Given the description of an element on the screen output the (x, y) to click on. 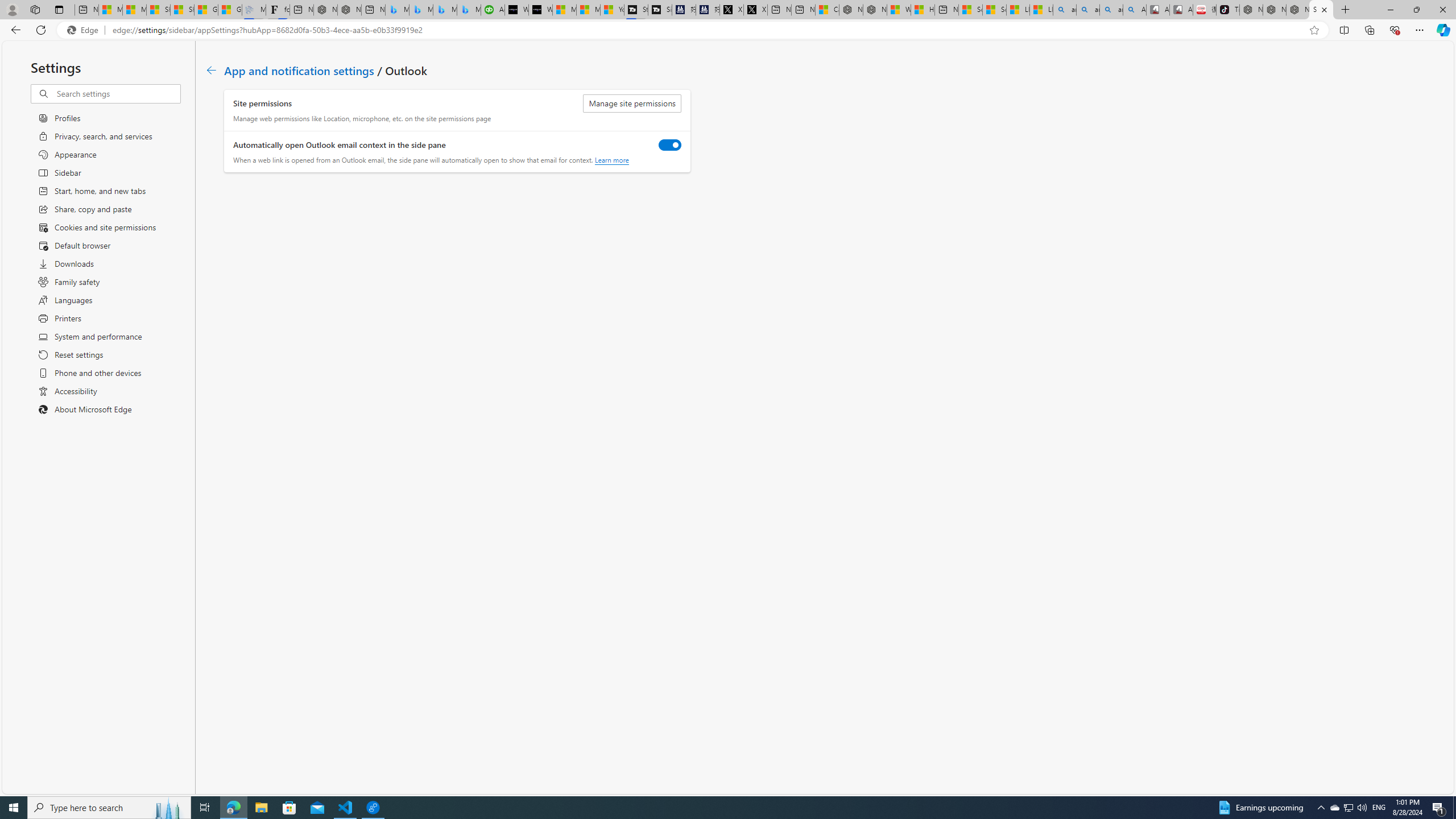
Streaming Coverage | T3 (635, 9)
Nordace - #1 Japanese Best-Seller - Siena Smart Backpack (349, 9)
Accounting Software for Accountants, CPAs and Bookkeepers (492, 9)
amazon - Search Images (1111, 9)
Edge (84, 29)
